Given the description of an element on the screen output the (x, y) to click on. 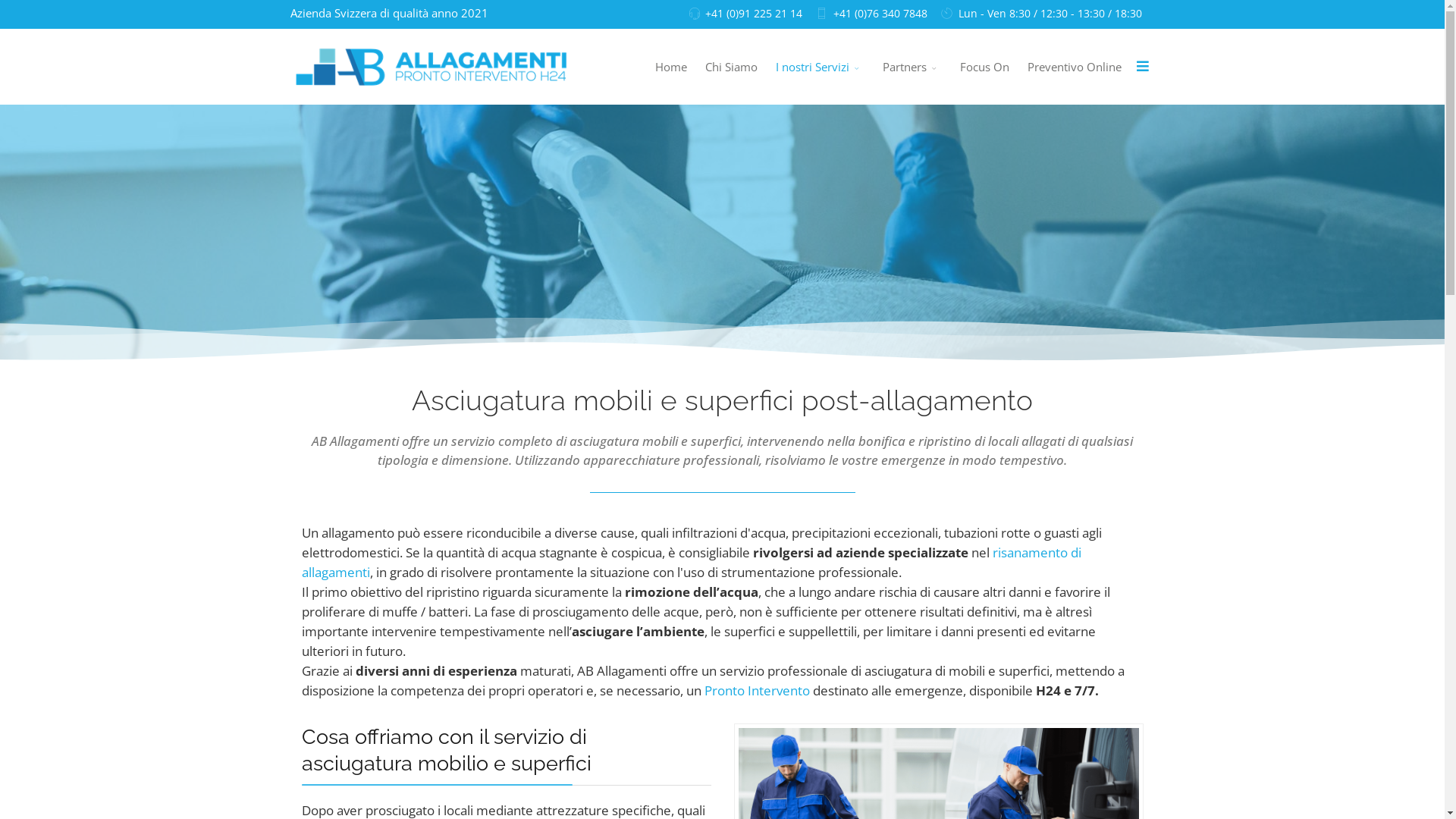
risanamento di allagamenti Element type: text (691, 561)
Pronto Intervento Element type: text (756, 689)
Menu Element type: hover (1141, 65)
Preventivo Online Element type: text (1073, 66)
Partners Element type: text (911, 66)
+41 (0)76 340 7848 Element type: text (879, 13)
Chi Siamo Element type: text (731, 66)
+41 (0)91 225 21 14 Element type: text (753, 13)
I nostri Servizi Element type: text (818, 66)
Focus On Element type: text (984, 66)
Home Element type: text (671, 66)
